Given the description of an element on the screen output the (x, y) to click on. 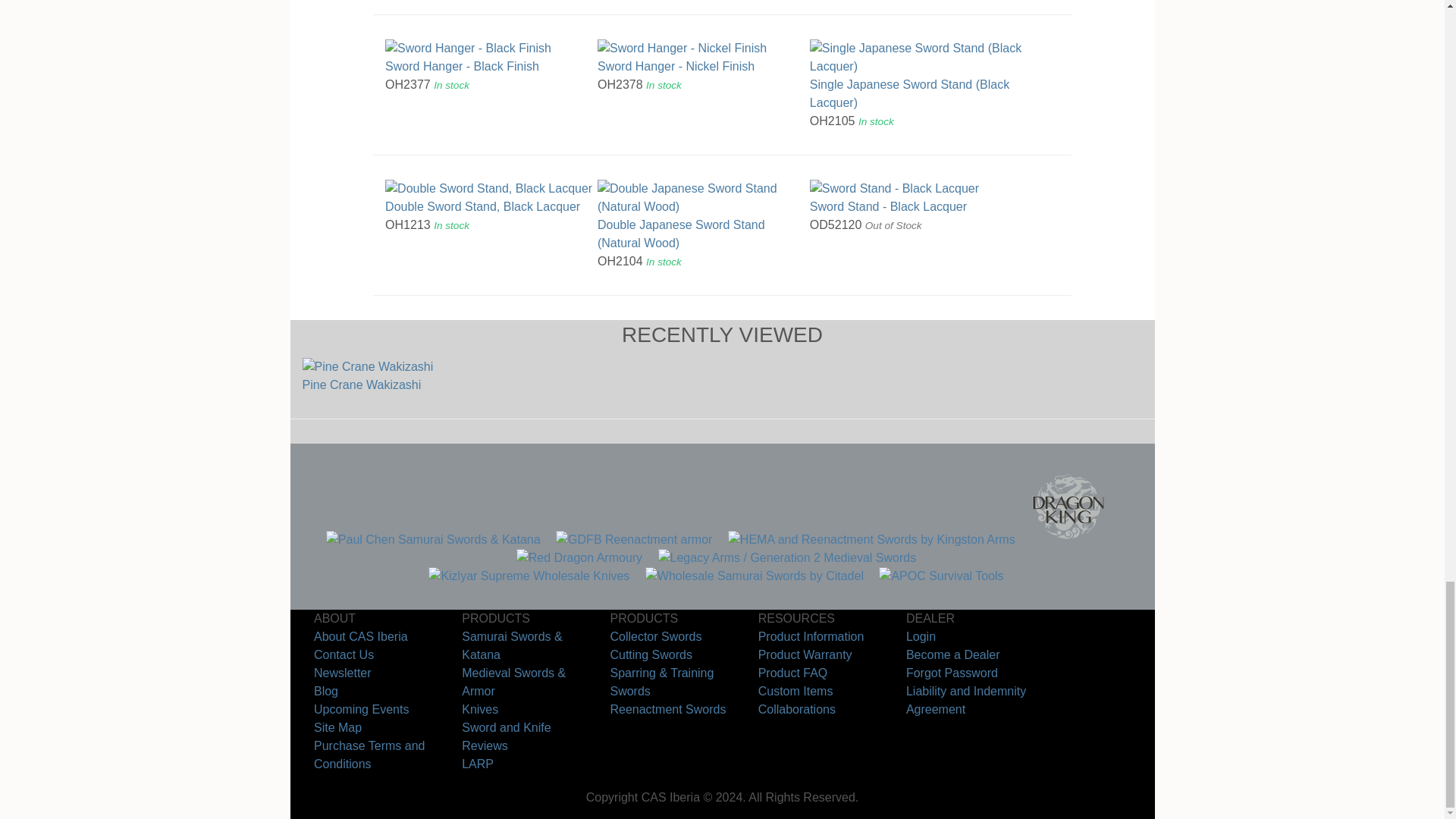
Superior Russian Knives and Accessories (528, 575)
Red Dragon HEMA Supply (579, 557)
Paul Chen Hanwei Swords (433, 539)
Kingston Arms European Swords and HEMA Supply (871, 539)
Pine Crane Wakizashi (398, 366)
Dragon King Japanese and Chinese Swords (1068, 539)
Legacy Arms Medieval, Viking and Roman Swords (787, 557)
GDFB Medieval Reenactmant Gear (633, 539)
